Given the description of an element on the screen output the (x, y) to click on. 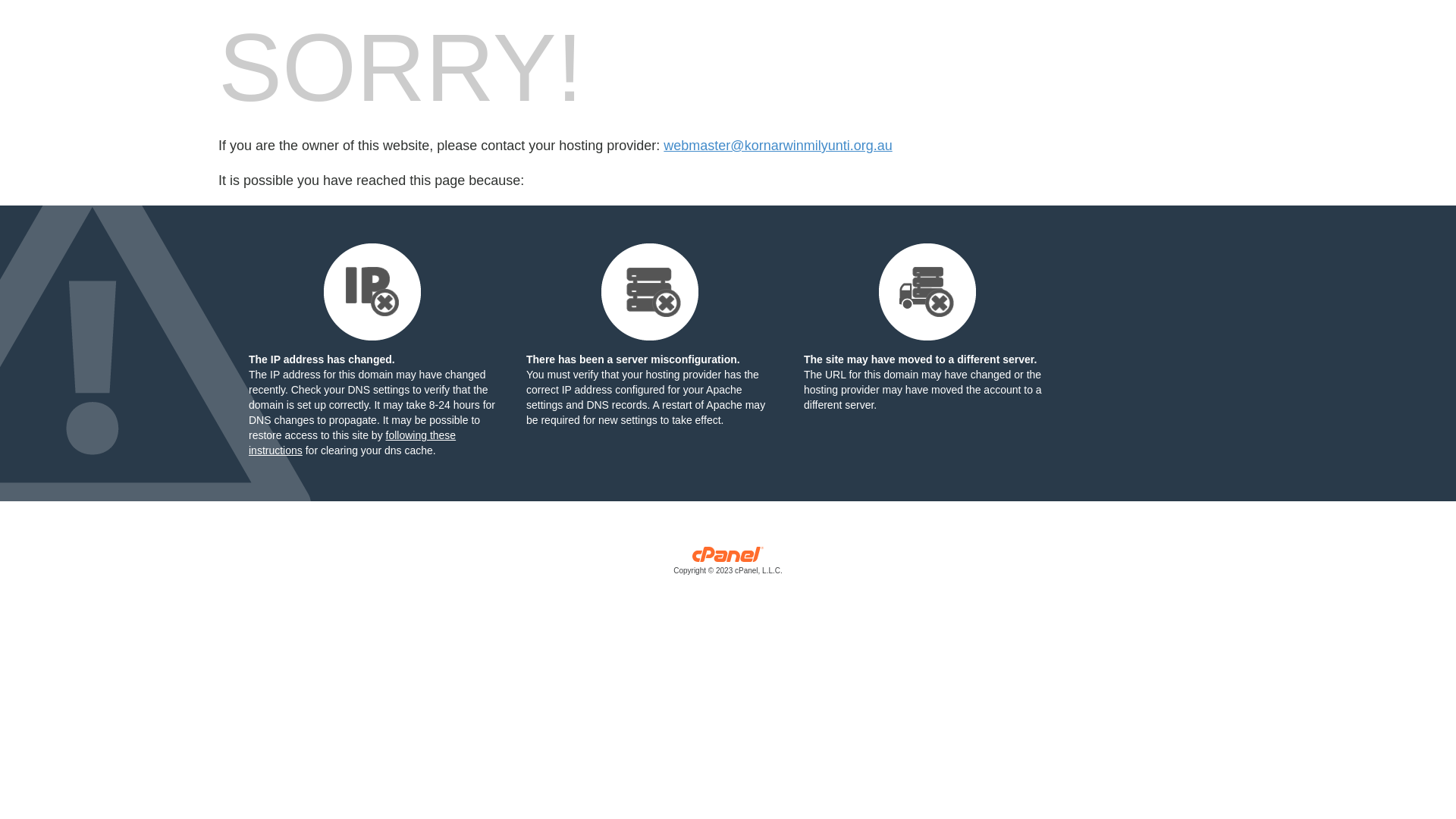
following these instructions Element type: text (351, 442)
webmaster@kornarwinmilyunti.org.au Element type: text (777, 145)
